Given the description of an element on the screen output the (x, y) to click on. 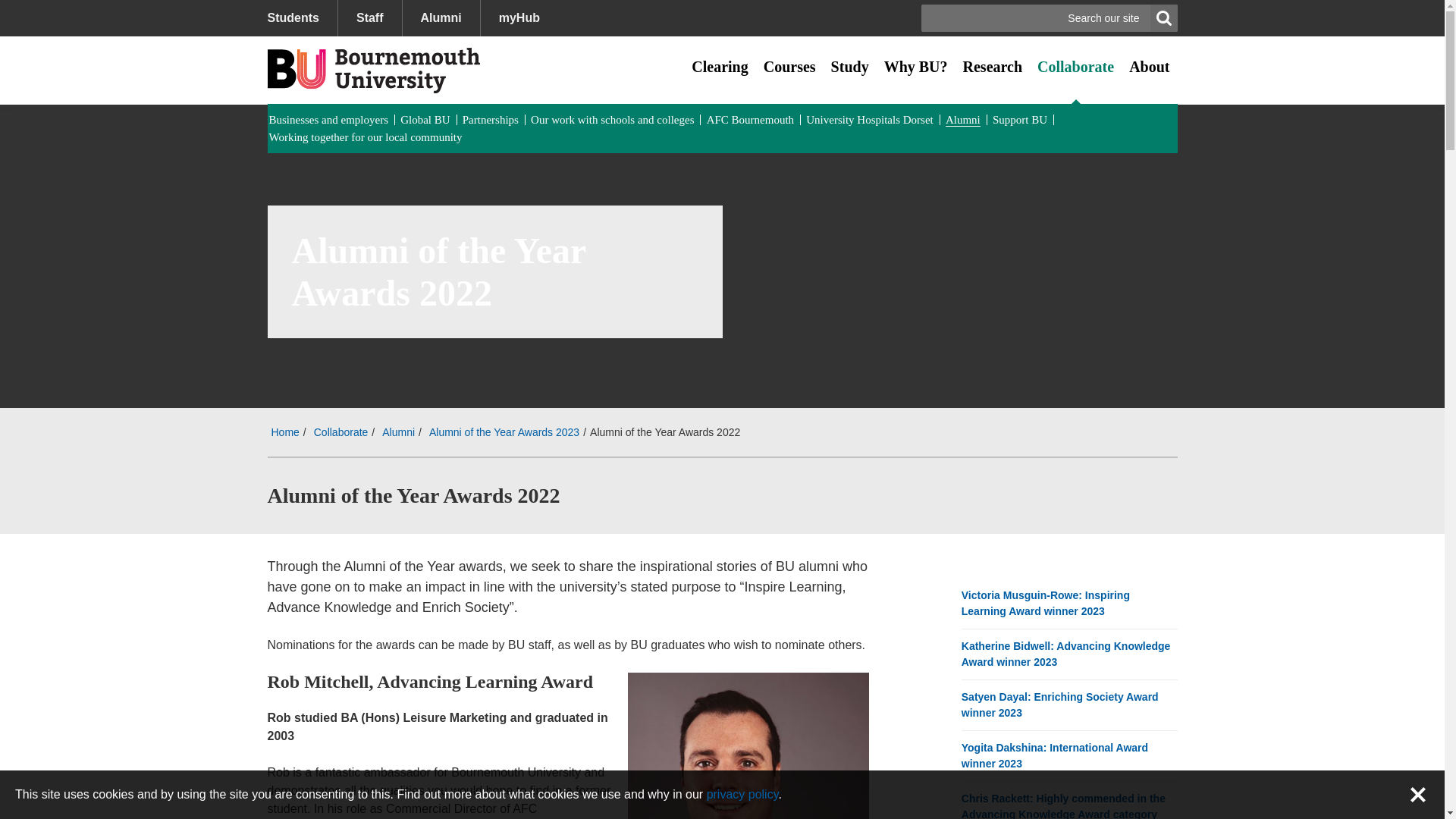
Why BU? (915, 66)
myHub (518, 18)
Search (1163, 17)
Bournemouth University (372, 70)
Clearing (719, 66)
Courses (789, 66)
privacy policy (742, 793)
Alumni (440, 18)
Students (301, 18)
Rob Mitchell (747, 745)
Staff (369, 18)
Research (992, 66)
Close (1417, 793)
Enter the terms you wish to search for. (1049, 17)
Close (1417, 793)
